Given the description of an element on the screen output the (x, y) to click on. 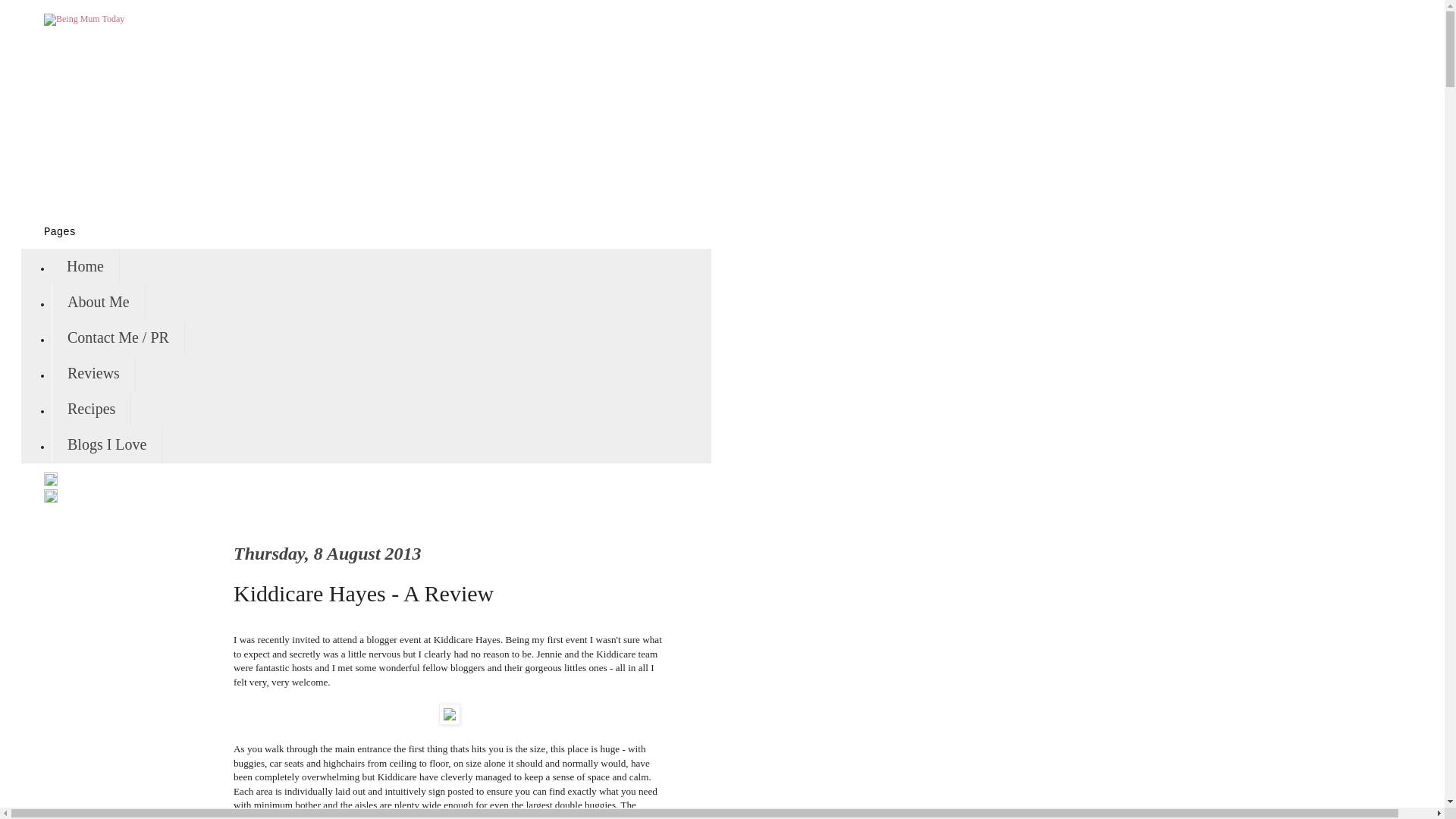
Home (84, 266)
Reviews (92, 373)
Blogs I Love (105, 444)
About Me (97, 302)
Edit (50, 482)
Recipes (90, 408)
Edit (50, 499)
